Given the description of an element on the screen output the (x, y) to click on. 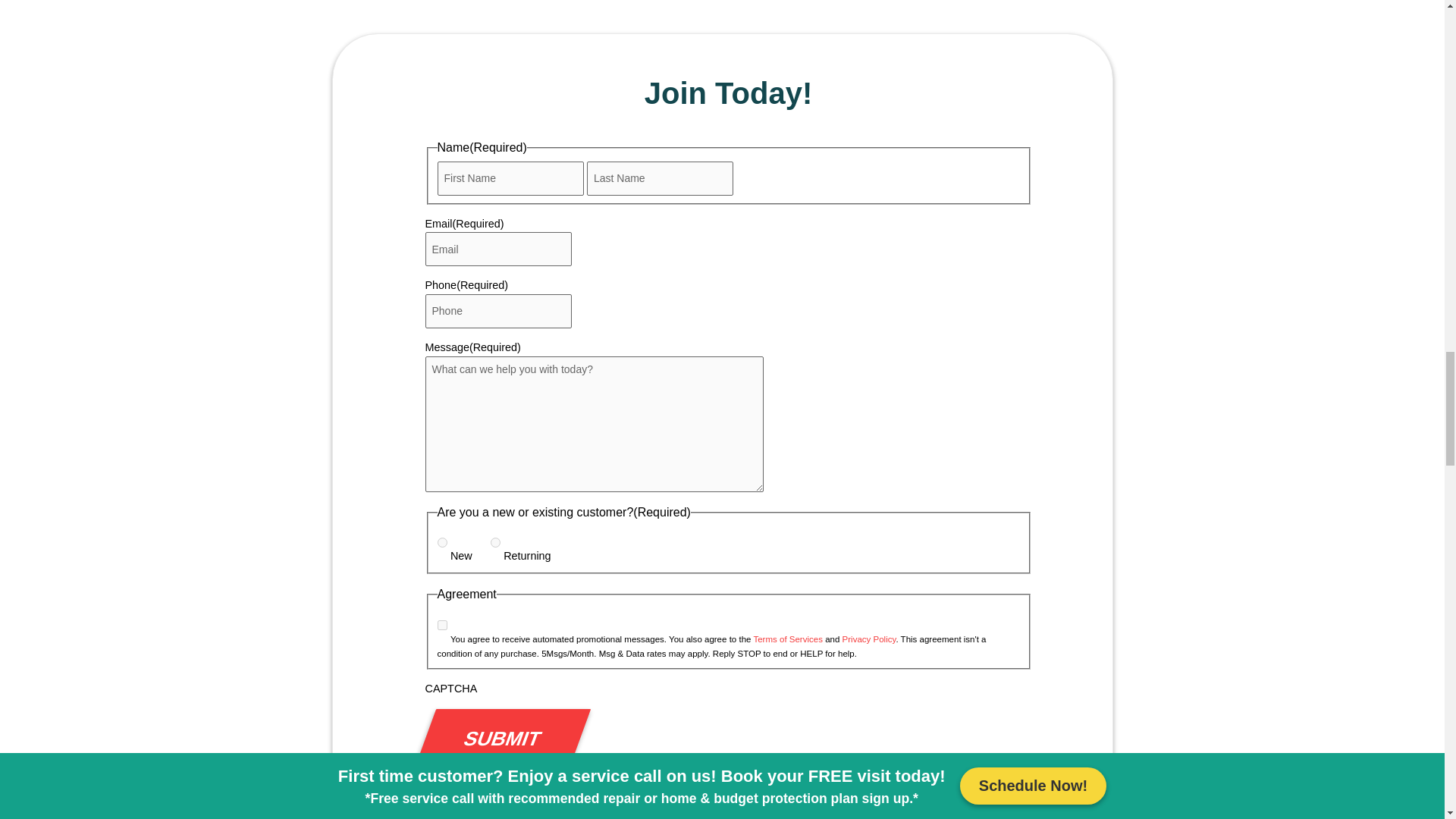
Submit (491, 738)
